Given the description of an element on the screen output the (x, y) to click on. 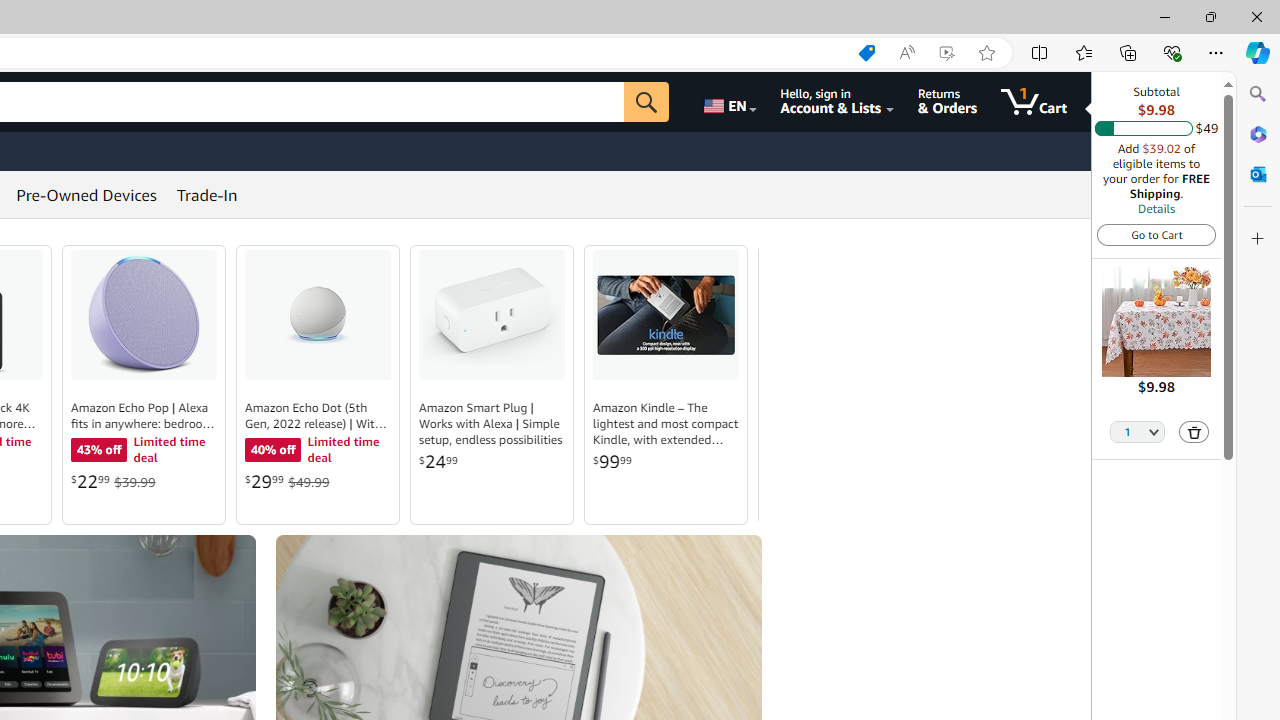
Go (646, 101)
Go to Cart (1156, 234)
Pre-Owned Devices (86, 194)
Quantity Selector (1137, 430)
